Given the description of an element on the screen output the (x, y) to click on. 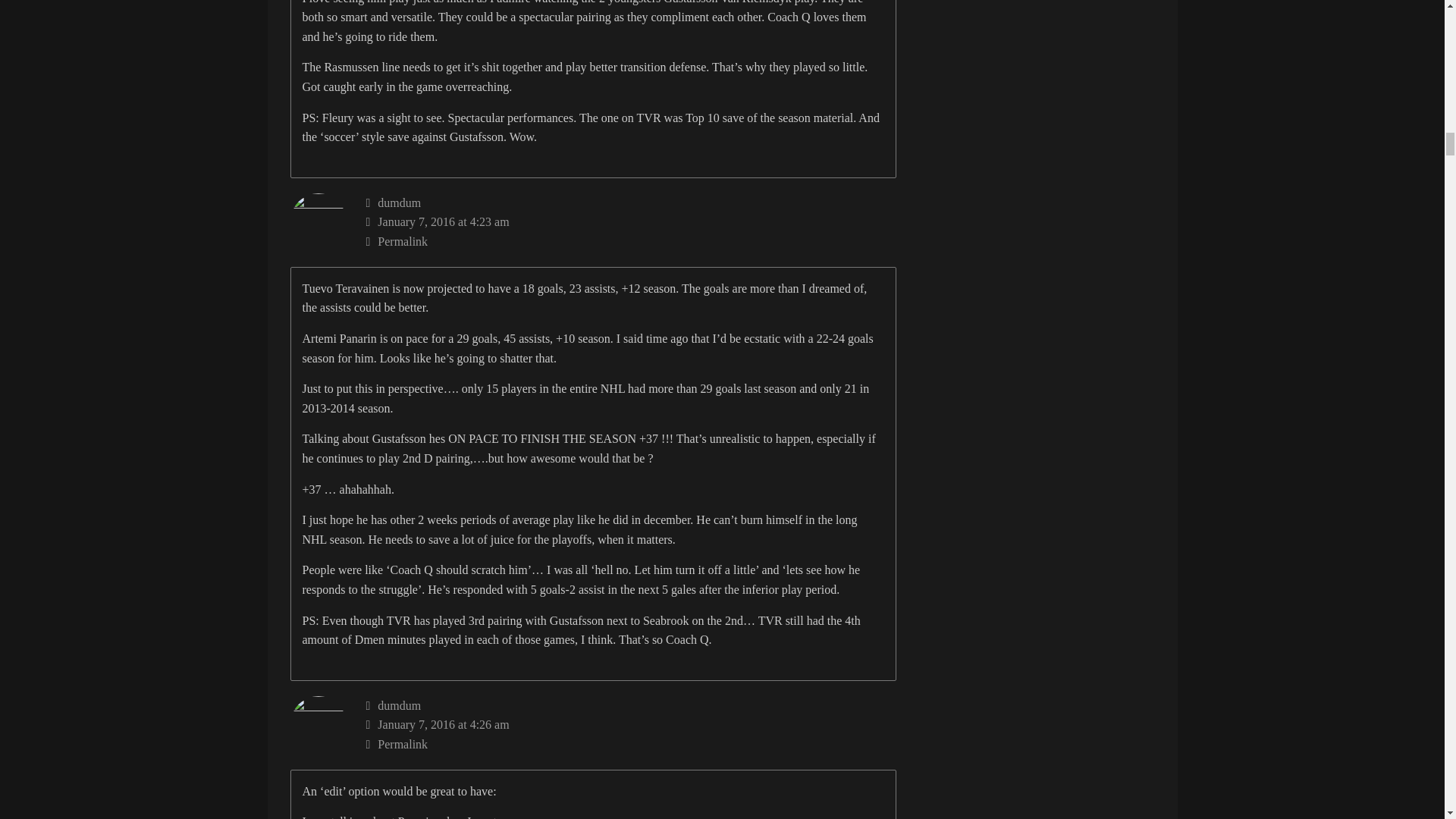
Permalink (630, 241)
Permalink (630, 744)
